Given the description of an element on the screen output the (x, y) to click on. 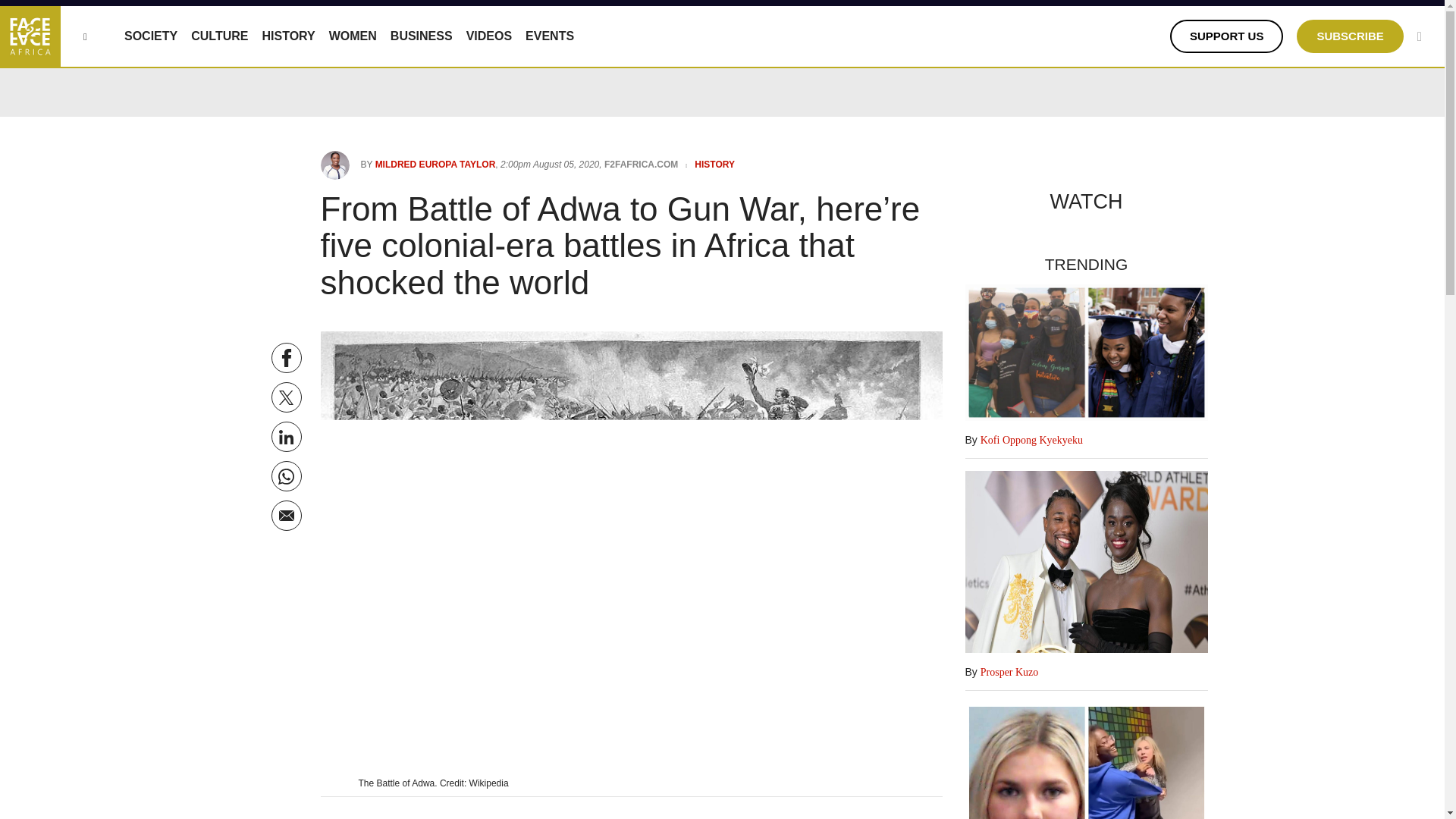
EVENTS (549, 35)
HISTORY (288, 35)
SUBSCRIBE (1350, 36)
SUPPORT US (1227, 36)
WOMEN (353, 35)
SOCIETY (150, 35)
BUSINESS (421, 35)
CULTURE (218, 35)
VIDEOS (488, 35)
